Given the description of an element on the screen output the (x, y) to click on. 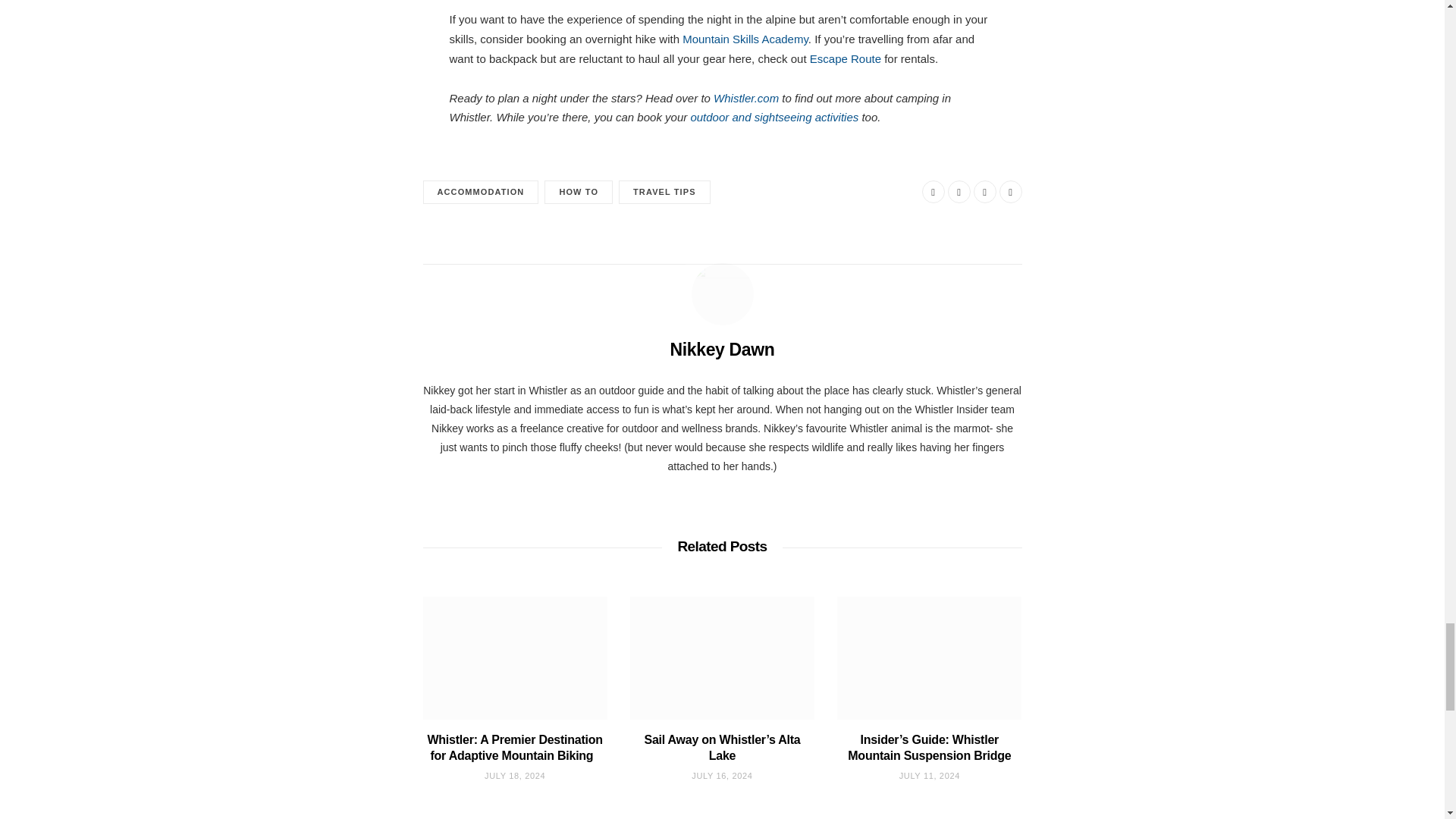
Share on Twitter (959, 191)
Pinterest (984, 191)
Posts by Nikkey Dawn (721, 349)
Share on Facebook (932, 191)
Email (1010, 191)
